Given the description of an element on the screen output the (x, y) to click on. 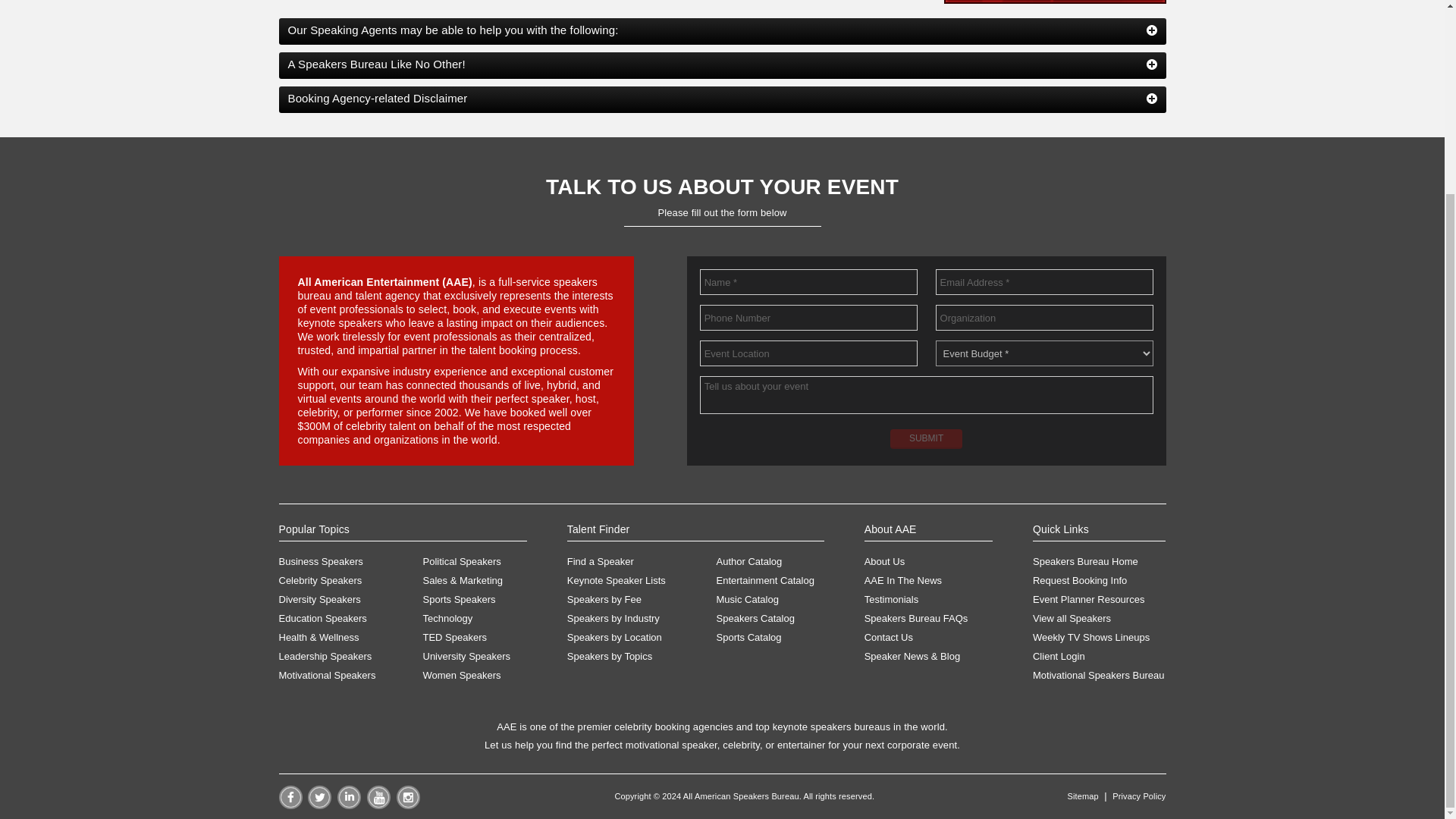
Twitter (319, 805)
Linkedin (349, 805)
Instagram (407, 805)
SUBMIT (925, 438)
You Tube (378, 805)
Facebook (290, 805)
